Given the description of an element on the screen output the (x, y) to click on. 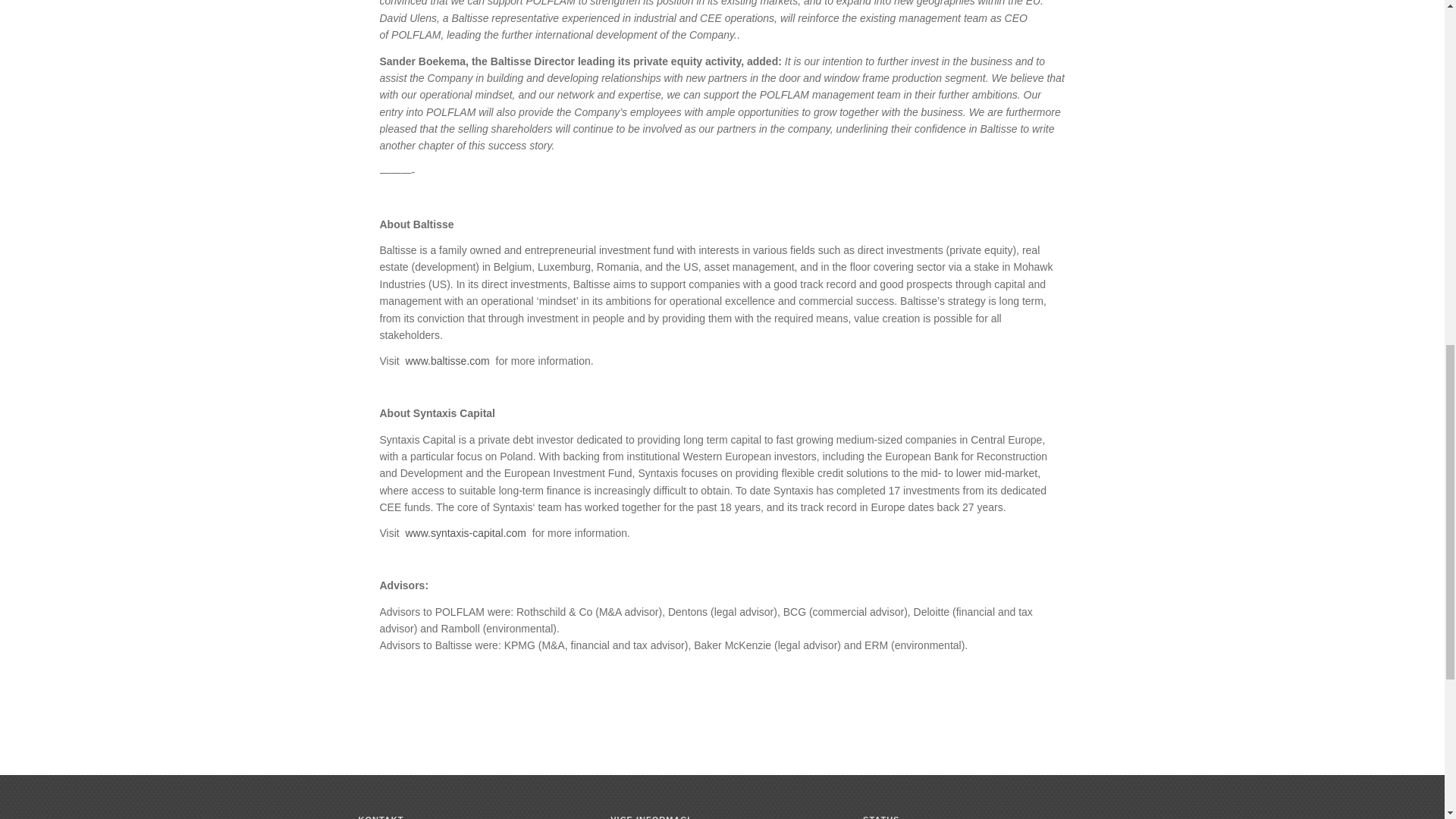
www.syntaxis-capital.com (464, 532)
www.baltisse.com (446, 360)
